Given the description of an element on the screen output the (x, y) to click on. 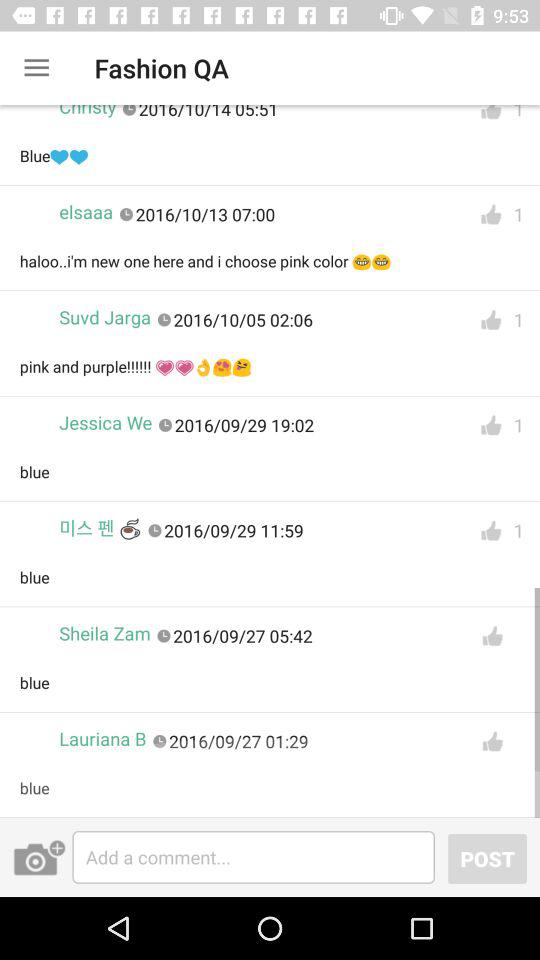
like the first reply (491, 117)
